Given the description of an element on the screen output the (x, y) to click on. 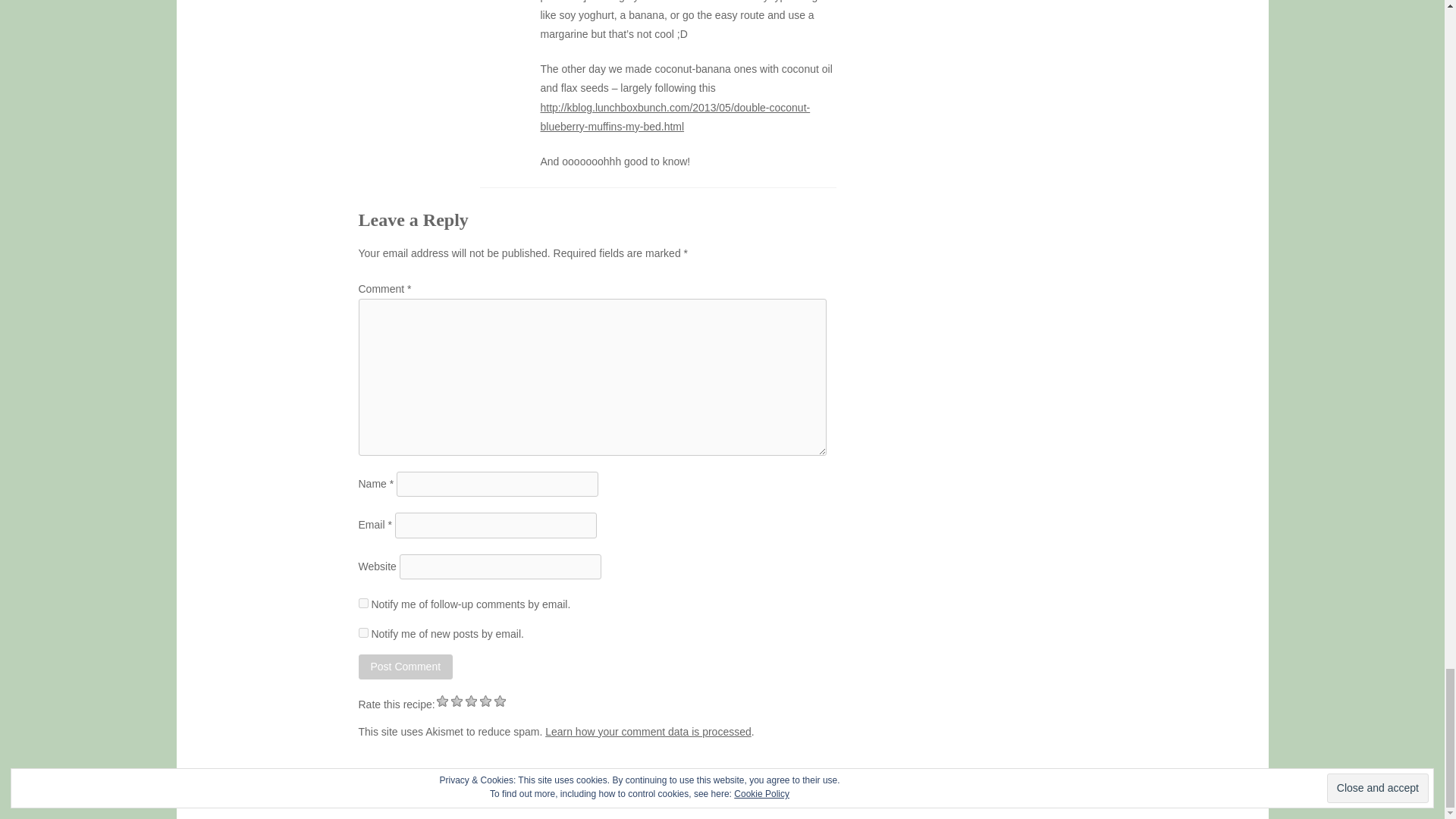
Post Comment (405, 666)
subscribe (363, 603)
subscribe (363, 633)
